Given the description of an element on the screen output the (x, y) to click on. 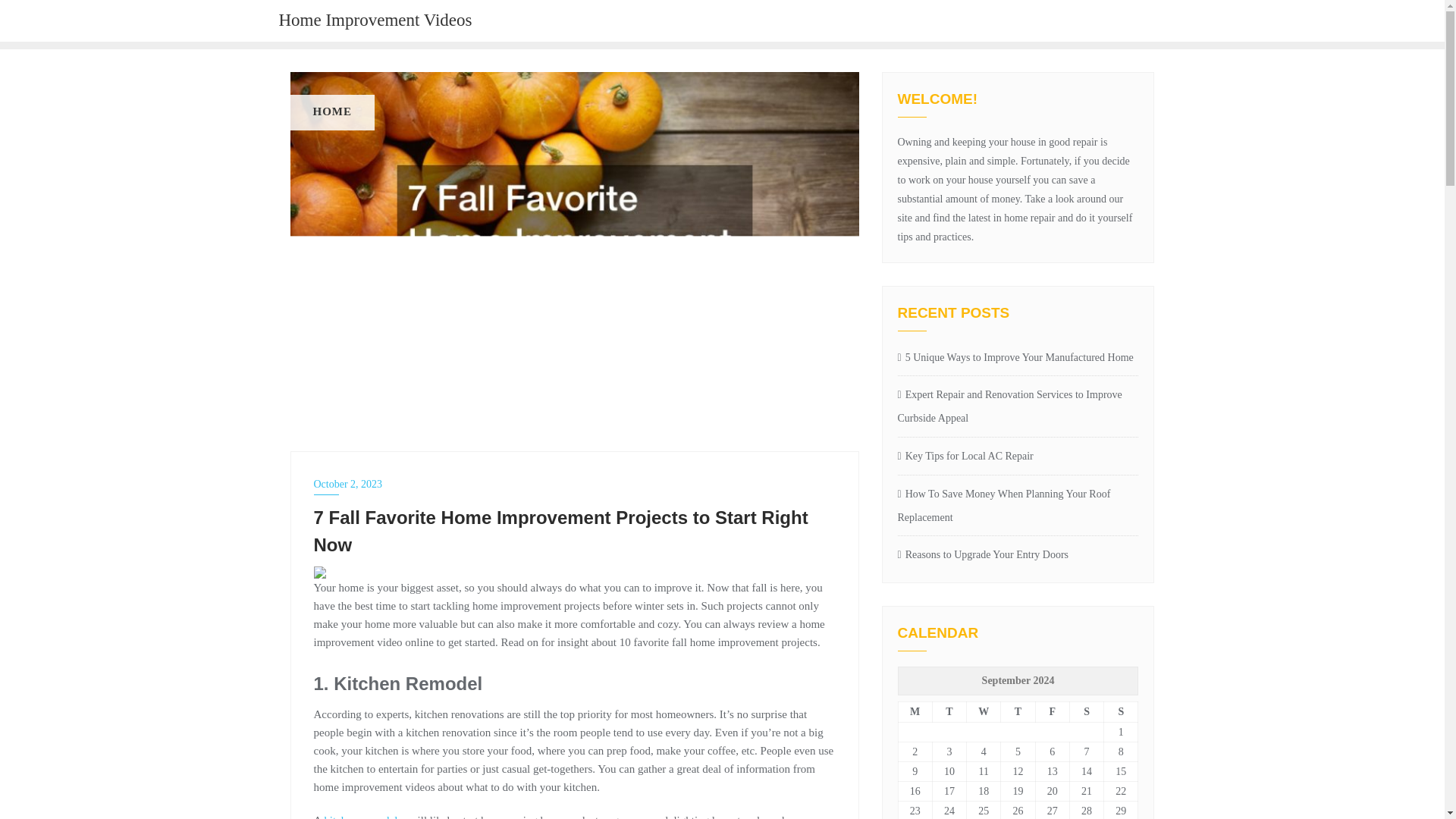
How To Save Money When Planning Your Roof Replacement (1018, 506)
Tuesday (948, 711)
Sunday (1120, 711)
Monday (914, 711)
Wednesday (983, 711)
Thursday (1018, 711)
kitchen remodeler (364, 816)
October 2, 2023 (574, 484)
